Given the description of an element on the screen output the (x, y) to click on. 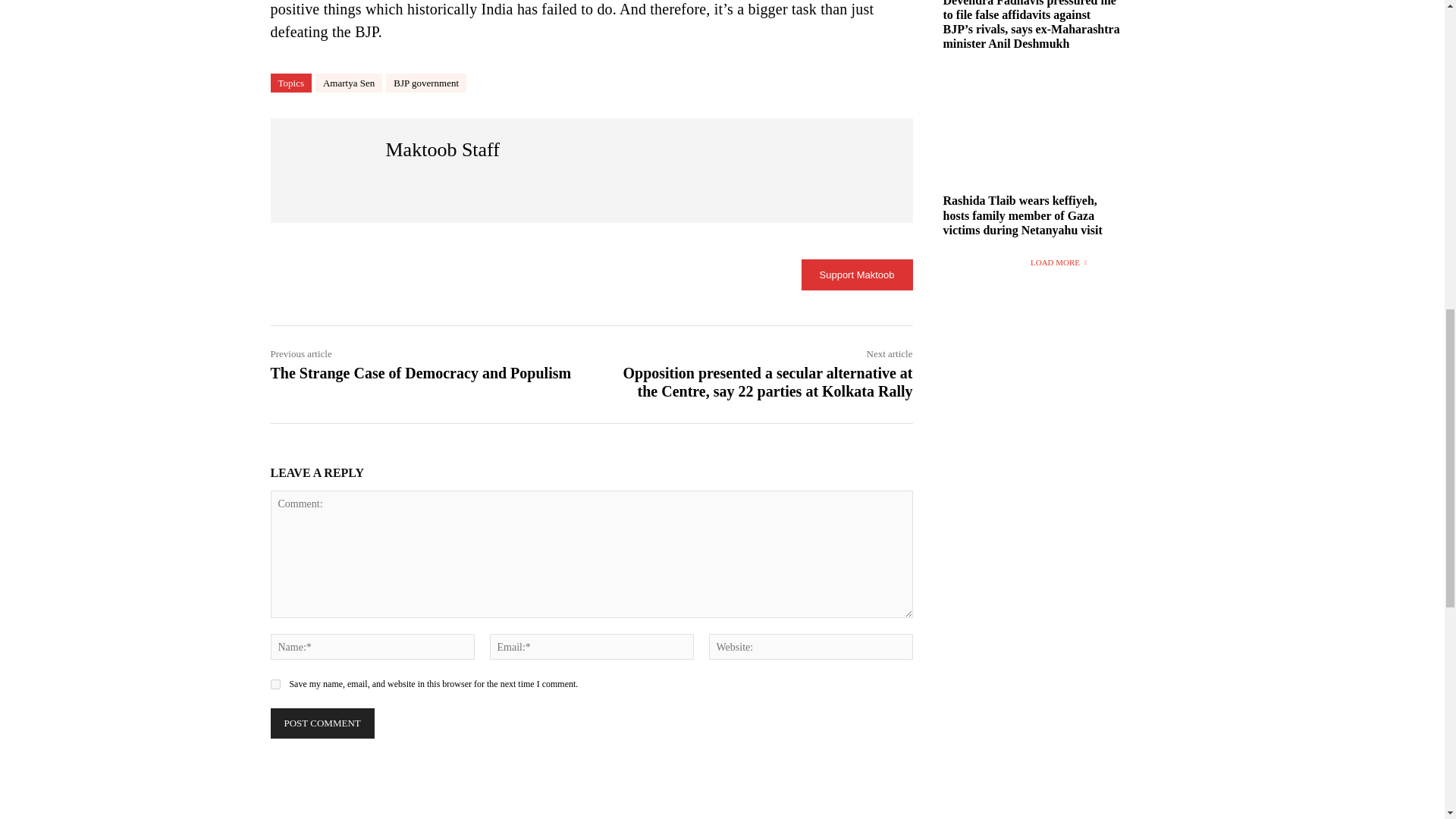
Maktoob Staff (327, 170)
Post Comment (321, 723)
Support Maktoob (857, 274)
yes (274, 684)
